Given the description of an element on the screen output the (x, y) to click on. 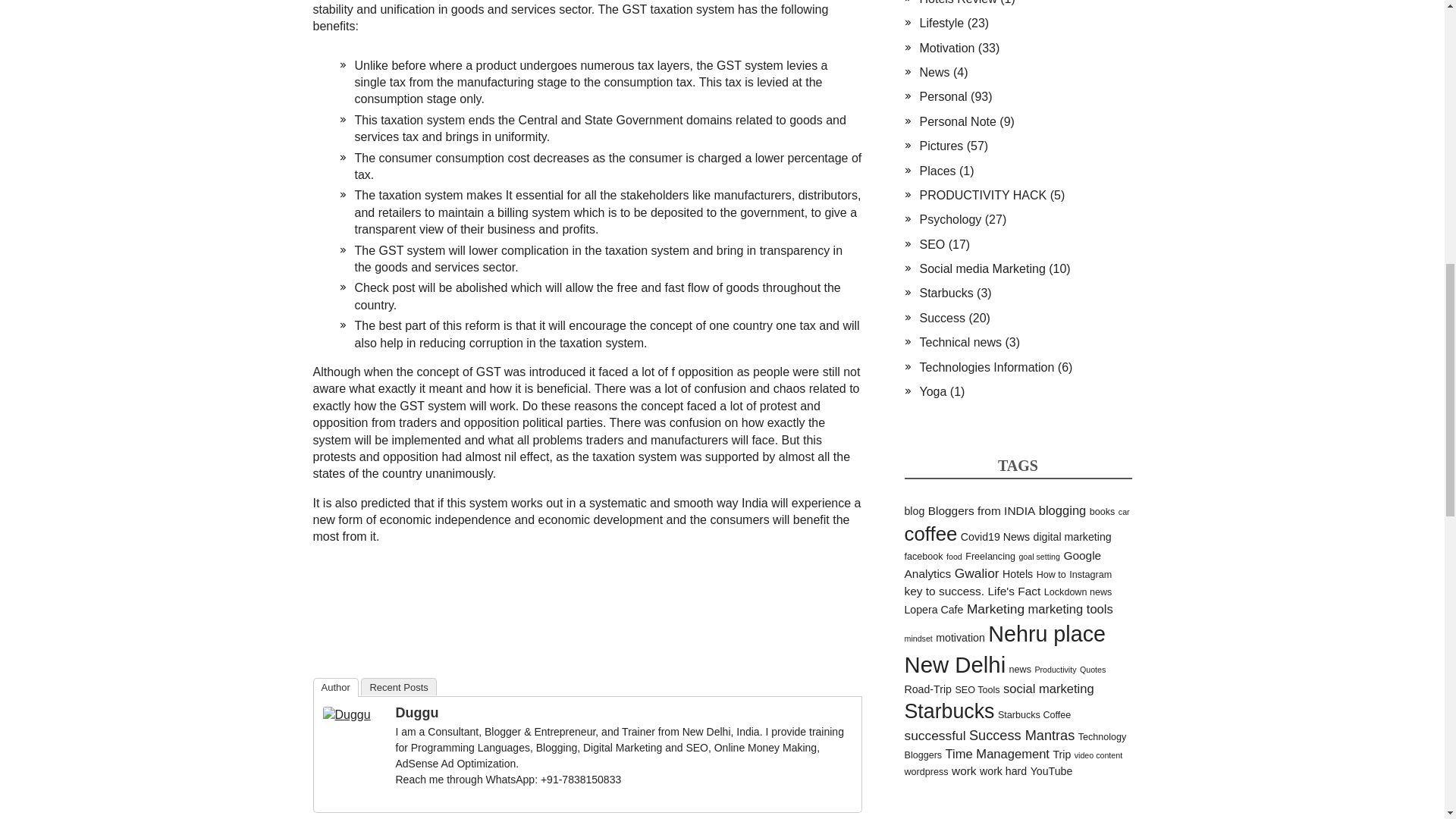
Recent Posts (398, 686)
Duggu (347, 713)
Author (335, 687)
Duggu (417, 712)
